Given the description of an element on the screen output the (x, y) to click on. 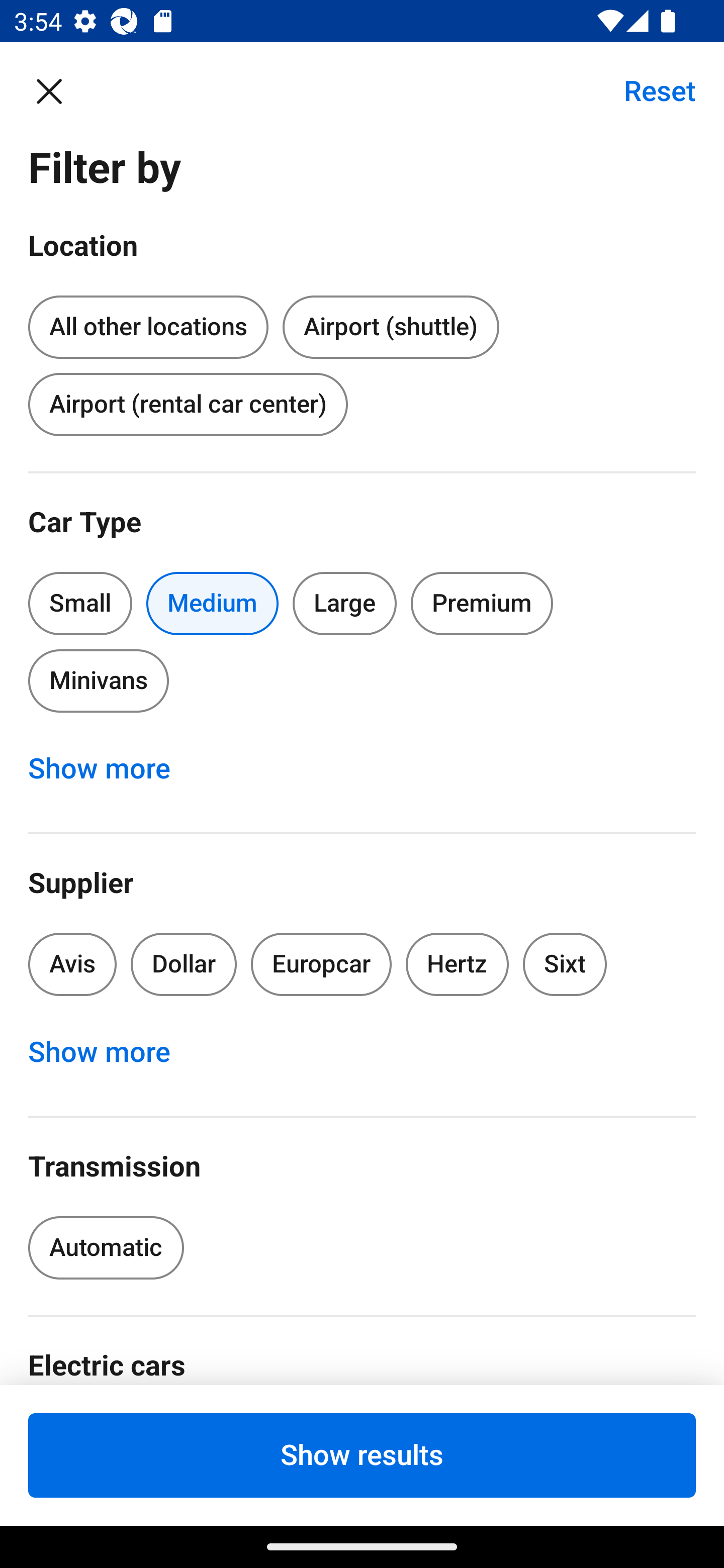
Close (59, 90)
Reset (649, 90)
All other locations (148, 323)
Airport (shuttle) (390, 327)
Airport (rental car center) (187, 404)
Small (80, 603)
Large (344, 603)
Premium (482, 603)
Minivans (98, 680)
Show more (109, 767)
Avis (72, 963)
Dollar (183, 963)
Europcar (321, 963)
Hertz (457, 963)
Sixt (564, 963)
Show more (109, 1051)
Automatic (105, 1247)
Show results (361, 1454)
